Given the description of an element on the screen output the (x, y) to click on. 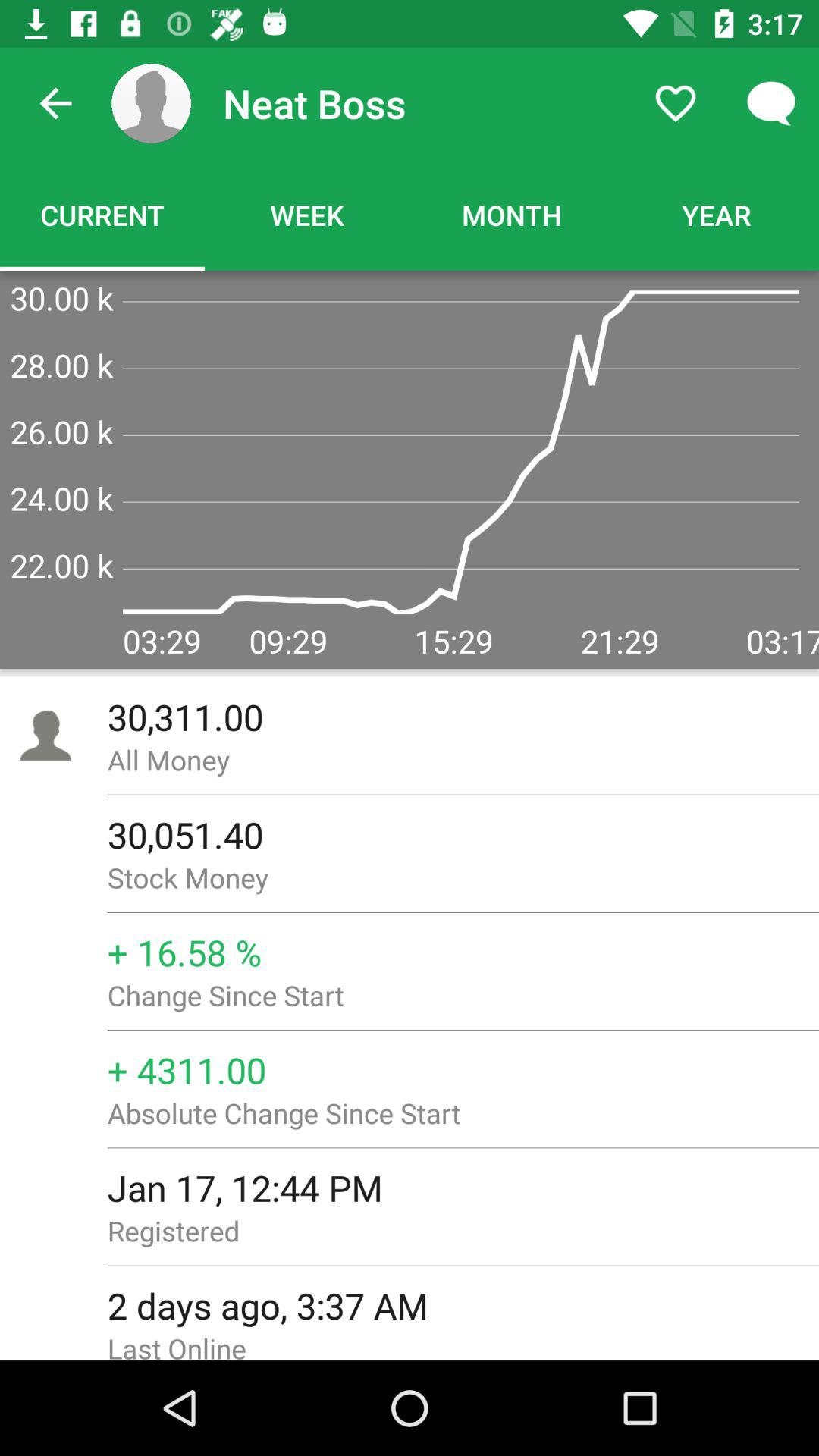
select the item to the right of neat boss icon (675, 103)
